Given the description of an element on the screen output the (x, y) to click on. 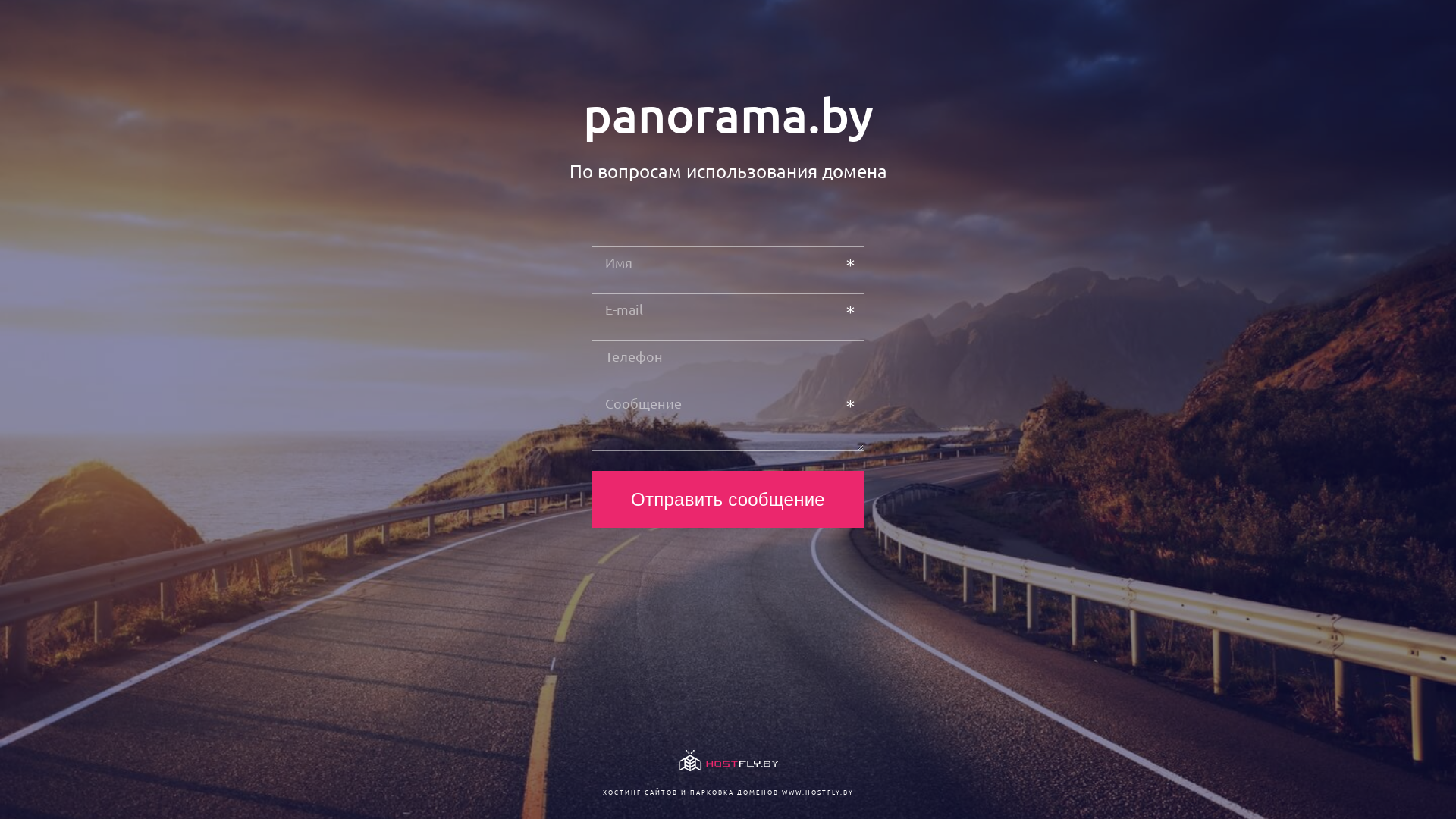
WWW.HOSTFLY.BY Element type: text (817, 791)
